Given the description of an element on the screen output the (x, y) to click on. 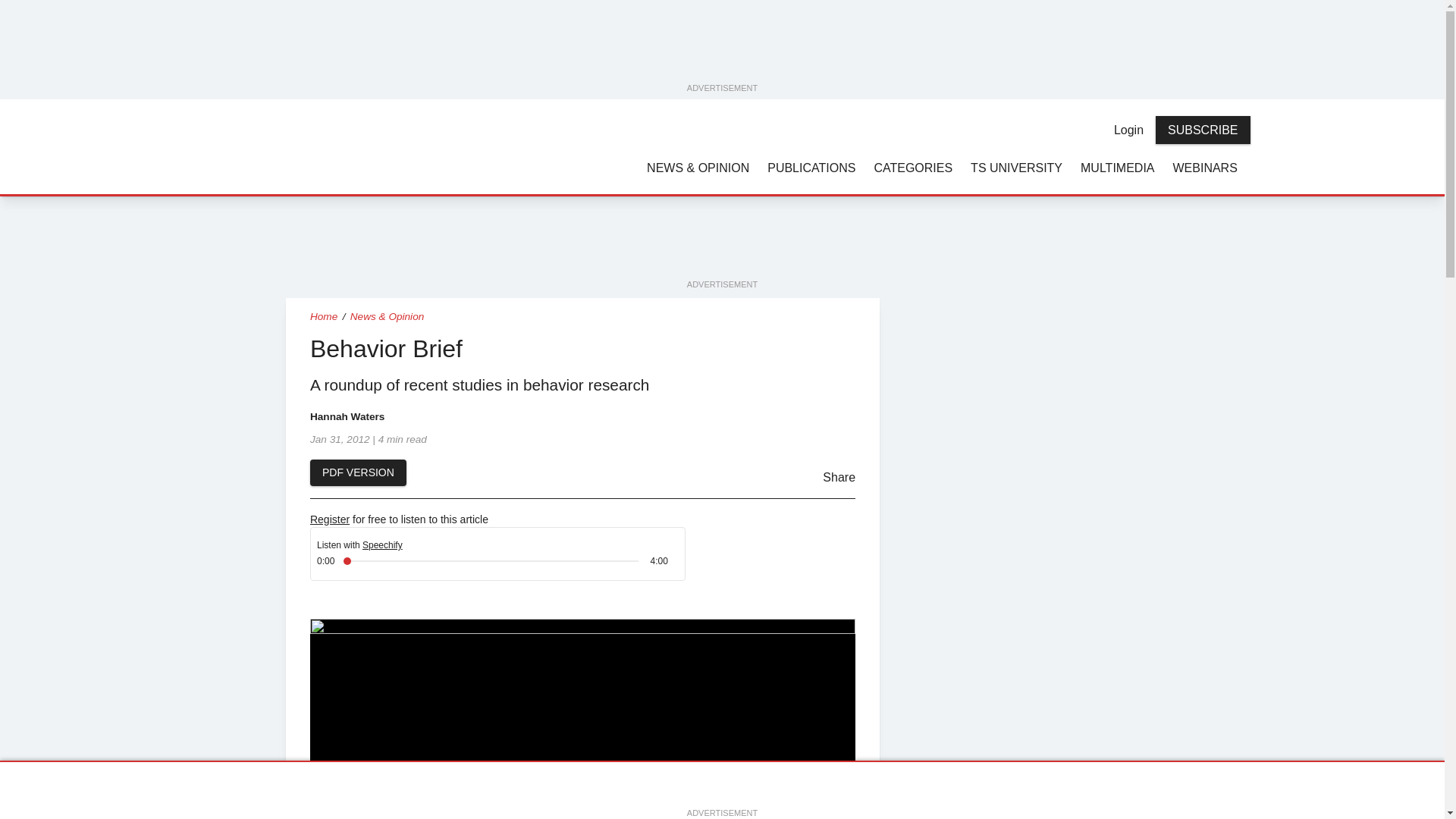
SUBSCRIBE (1202, 130)
CATEGORIES (912, 167)
TS UNIVERSITY (1015, 167)
Login (1127, 130)
